Given the description of an element on the screen output the (x, y) to click on. 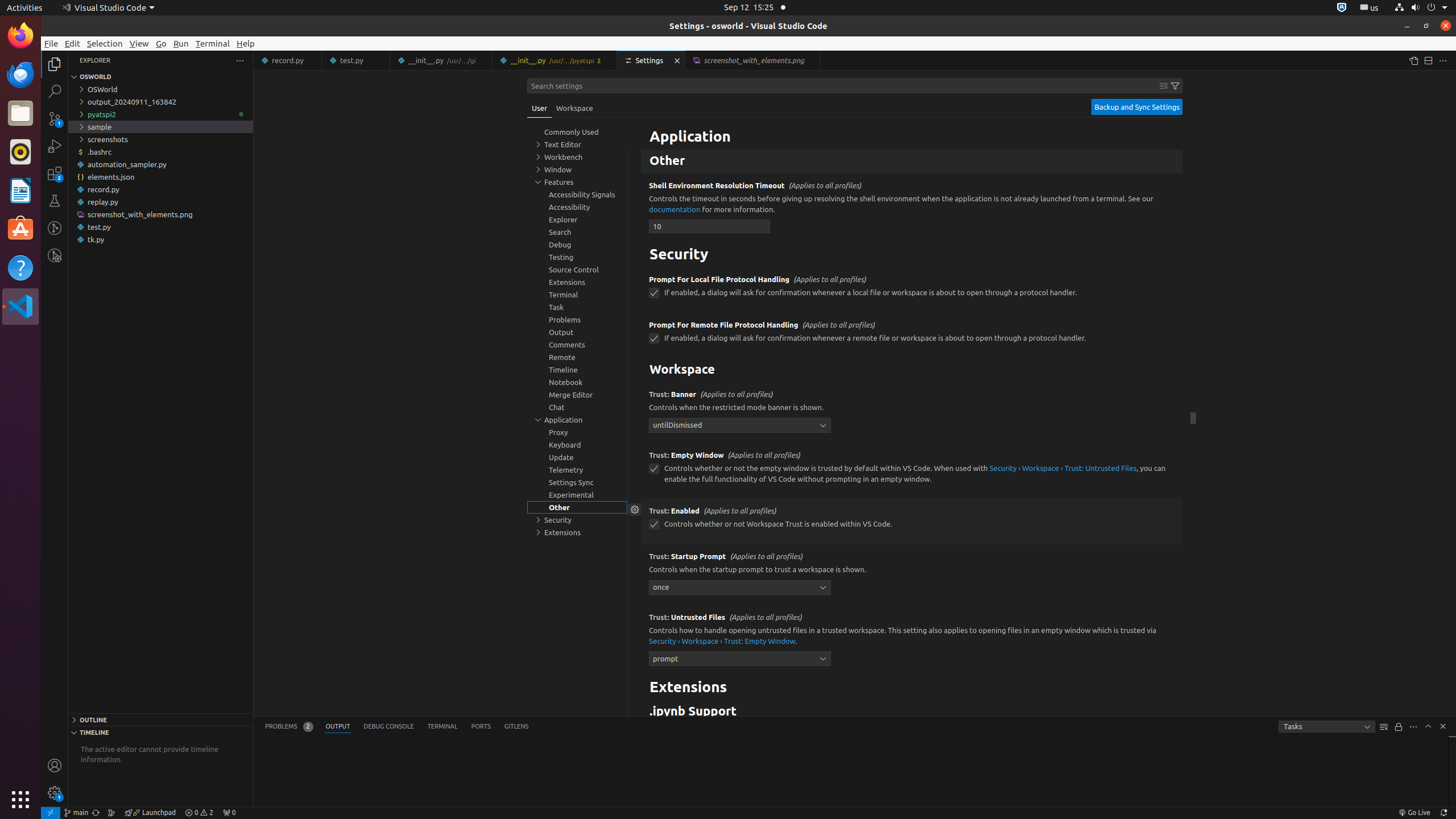
Testing Element type: page-tab (54, 200)
Other Element type: tree-item (911, 161)
Clear Output Element type: push-button (1383, 726)
Security › Workspace › Trust: Untrusted Files Element type: link (1062, 468)
Proxy, group Element type: tree-item (577, 431)
